Given the description of an element on the screen output the (x, y) to click on. 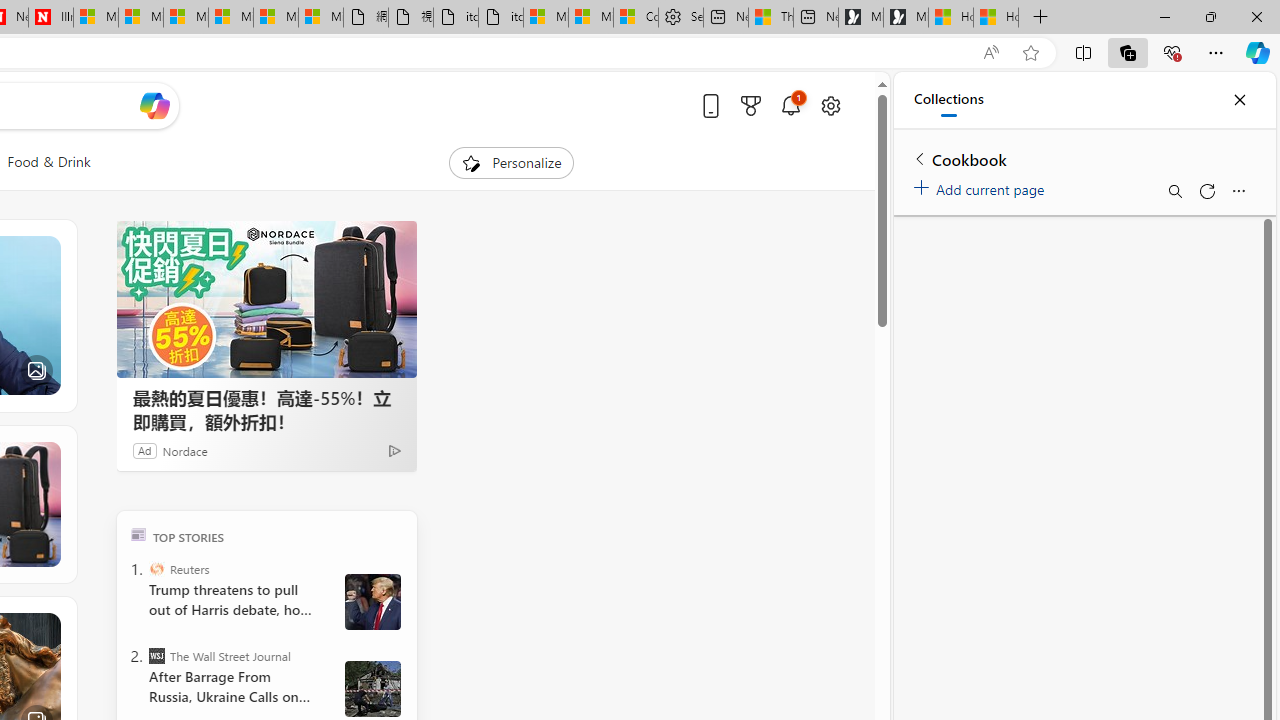
See more (46, 626)
Personalize (511, 162)
Back to list of collections (920, 158)
The Wall Street Journal (156, 655)
